Given the description of an element on the screen output the (x, y) to click on. 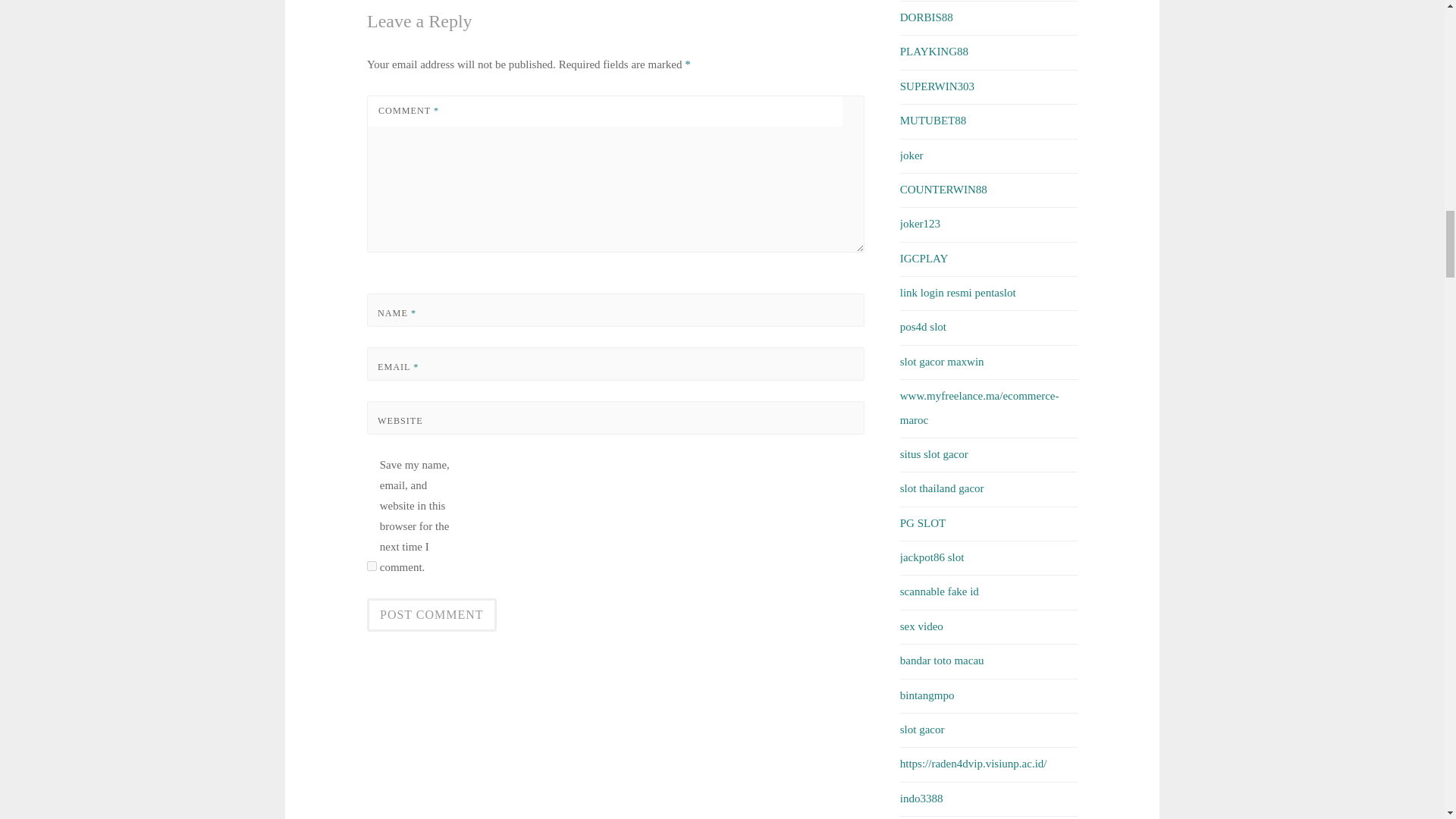
Post Comment (431, 614)
Post Comment (431, 614)
yes (371, 565)
